Given the description of an element on the screen output the (x, y) to click on. 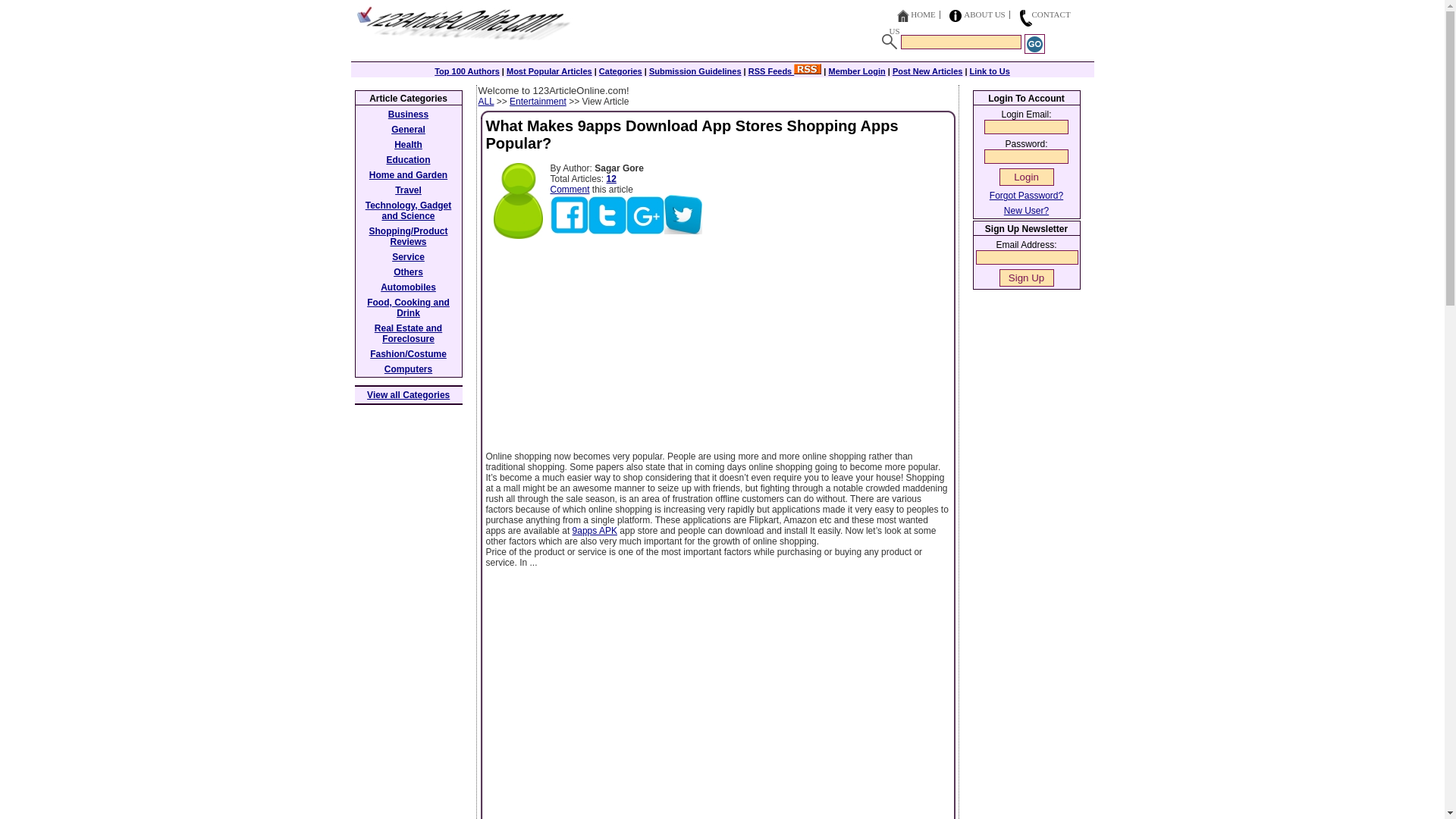
ALL (485, 101)
Submission Guidelines (695, 71)
Categories (620, 71)
9apps APK (594, 530)
12 (611, 178)
Entertainment (537, 101)
Most Popular Articles (549, 71)
Top 100 Authors (466, 71)
Comment (569, 189)
